Given the description of an element on the screen output the (x, y) to click on. 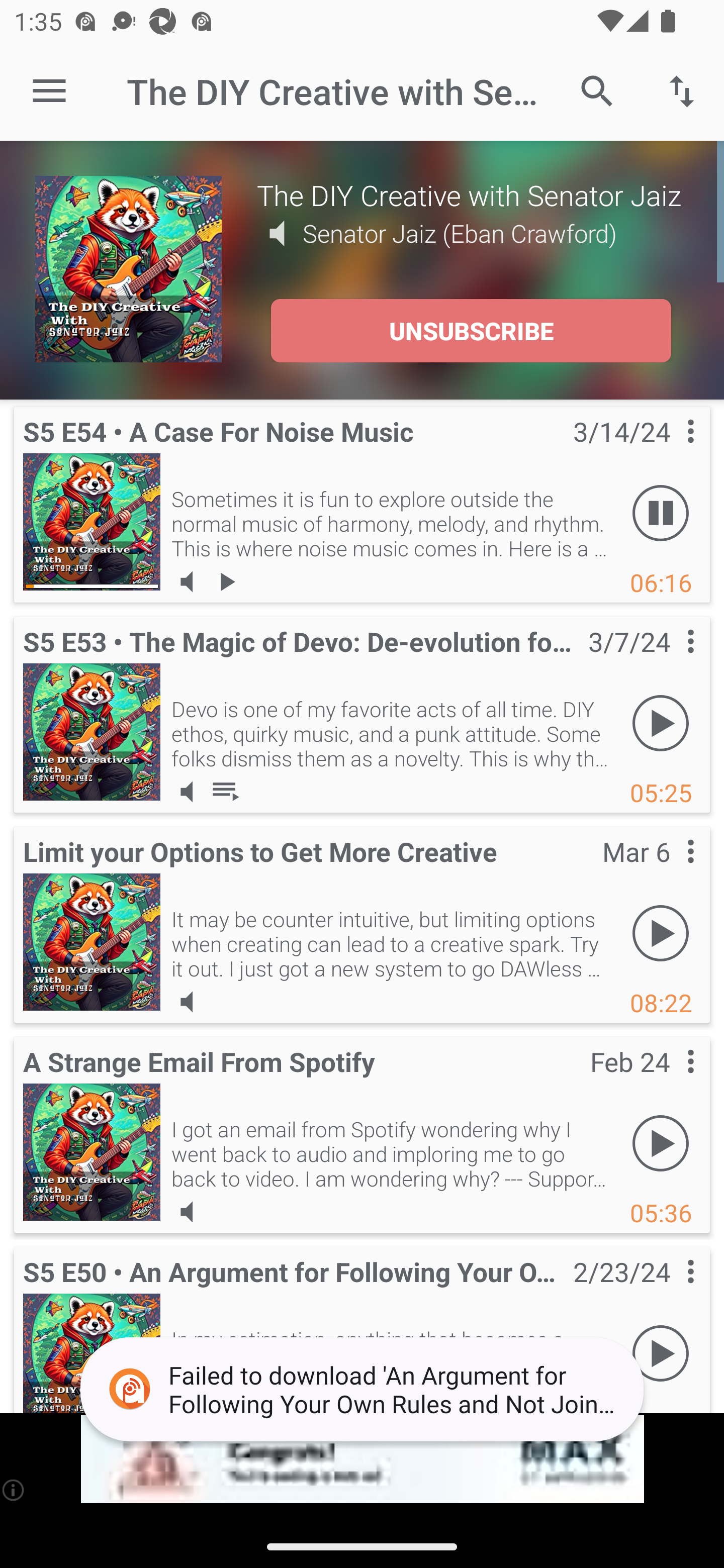
Open navigation sidebar (49, 91)
Search (597, 90)
Sort (681, 90)
UNSUBSCRIBE (470, 330)
Contextual menu (668, 451)
Pause (660, 513)
Contextual menu (668, 661)
Play (660, 723)
Contextual menu (668, 870)
Play (660, 933)
Contextual menu (668, 1080)
Play (660, 1143)
Contextual menu (668, 1290)
Play (660, 1353)
app-monetization (362, 1459)
(i) (14, 1489)
